Given the description of an element on the screen output the (x, y) to click on. 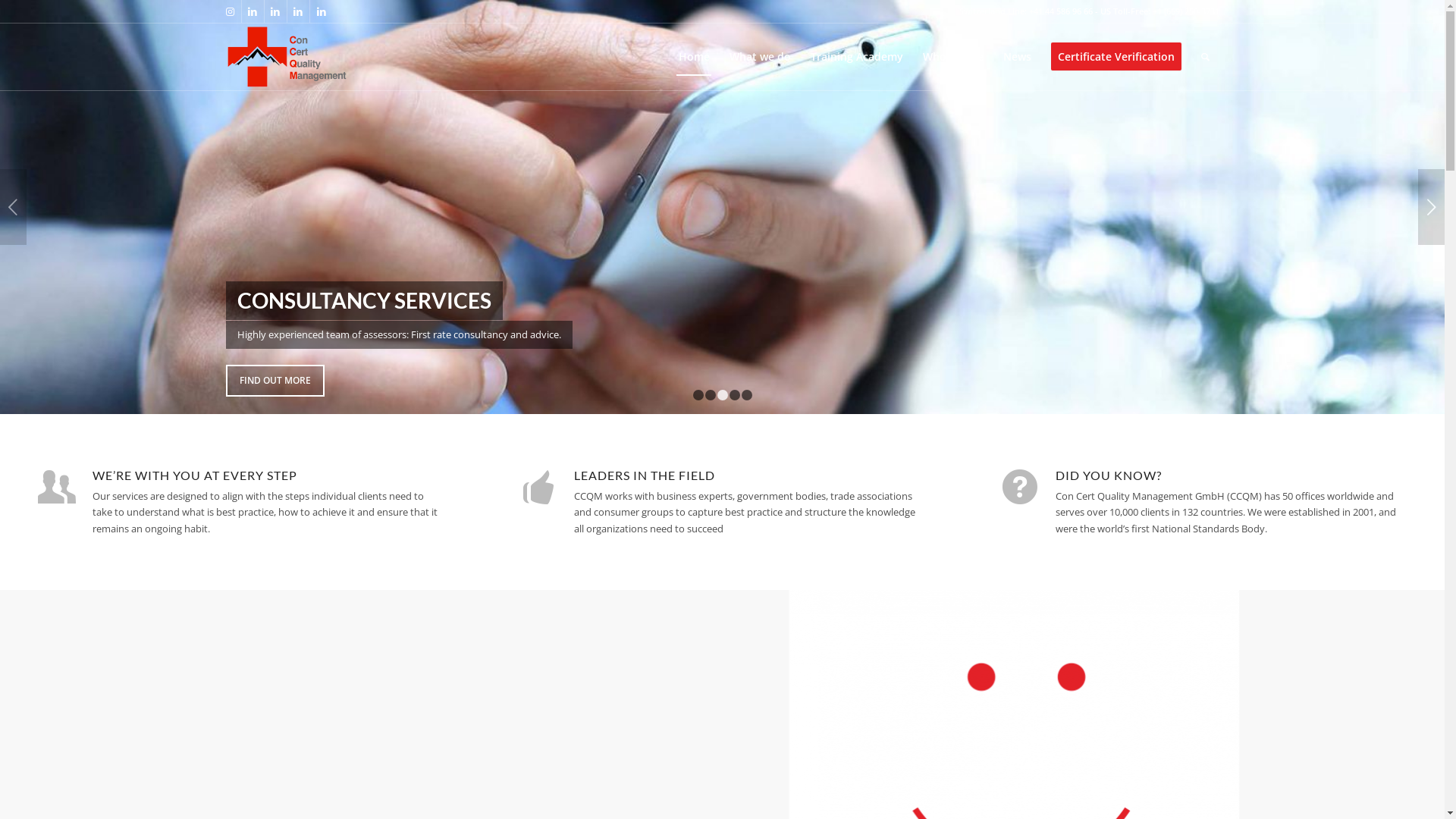
Who we are Element type: text (953, 56)
Home Element type: text (693, 56)
LinkedIn Element type: hover (297, 11)
4 Element type: text (734, 394)
LinkedIn Element type: hover (274, 11)
LinkedIn Element type: hover (252, 11)
3 Element type: text (722, 394)
5 Element type: text (746, 394)
FIND OUT MORE Element type: text (274, 380)
Previous Element type: text (13, 206)
Instagram Element type: hover (229, 11)
Next Element type: text (1431, 206)
2 Element type: text (710, 394)
What we do Element type: text (759, 56)
essentials_1920x623 Element type: hover (722, 207)
News Element type: text (1017, 56)
Certificate Verification Element type: text (1115, 56)
LinkedIn Element type: hover (320, 11)
1 Element type: text (698, 394)
Training Academy Element type: text (856, 56)
